Given the description of an element on the screen output the (x, y) to click on. 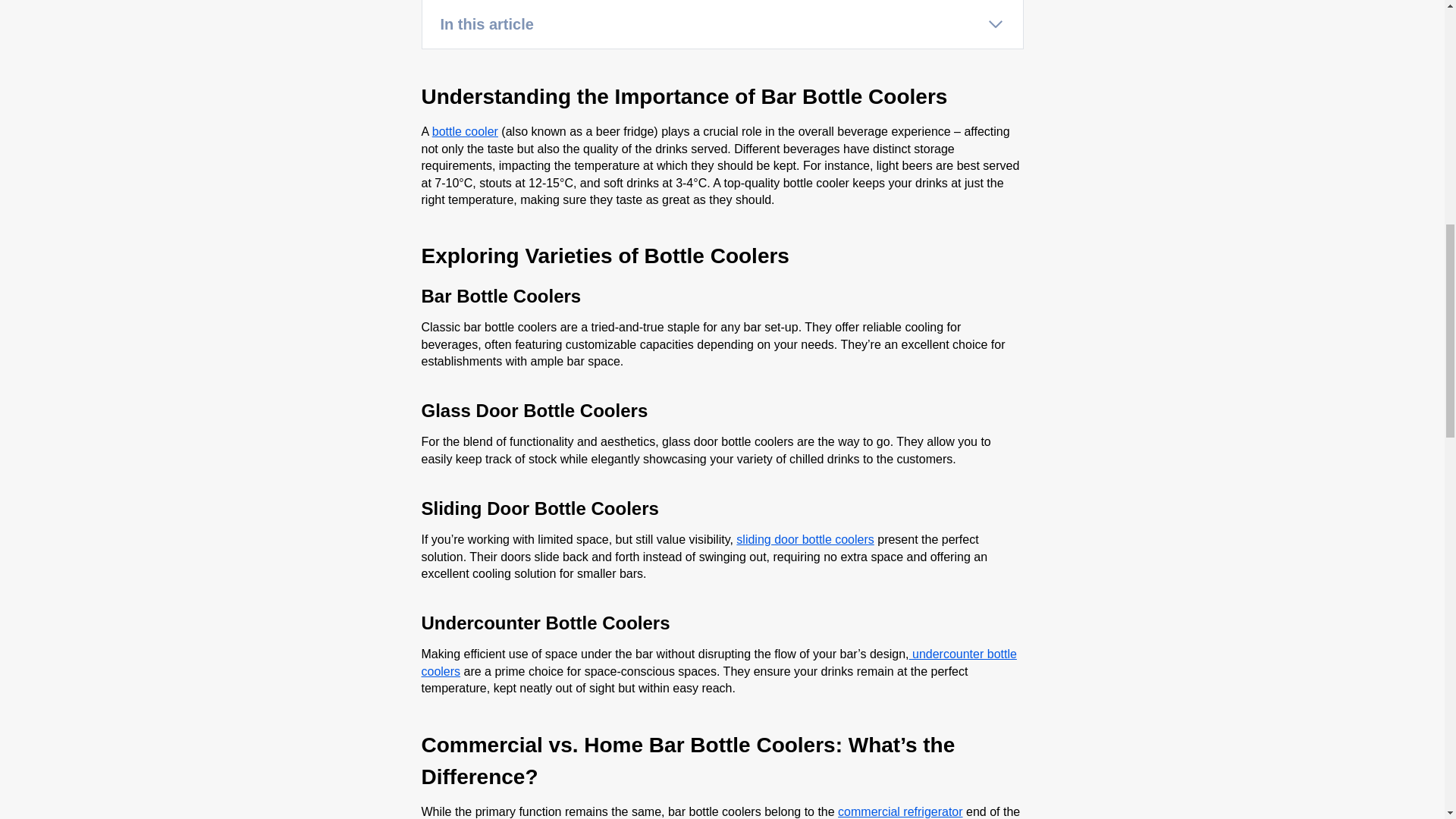
In this article (722, 24)
